Given the description of an element on the screen output the (x, y) to click on. 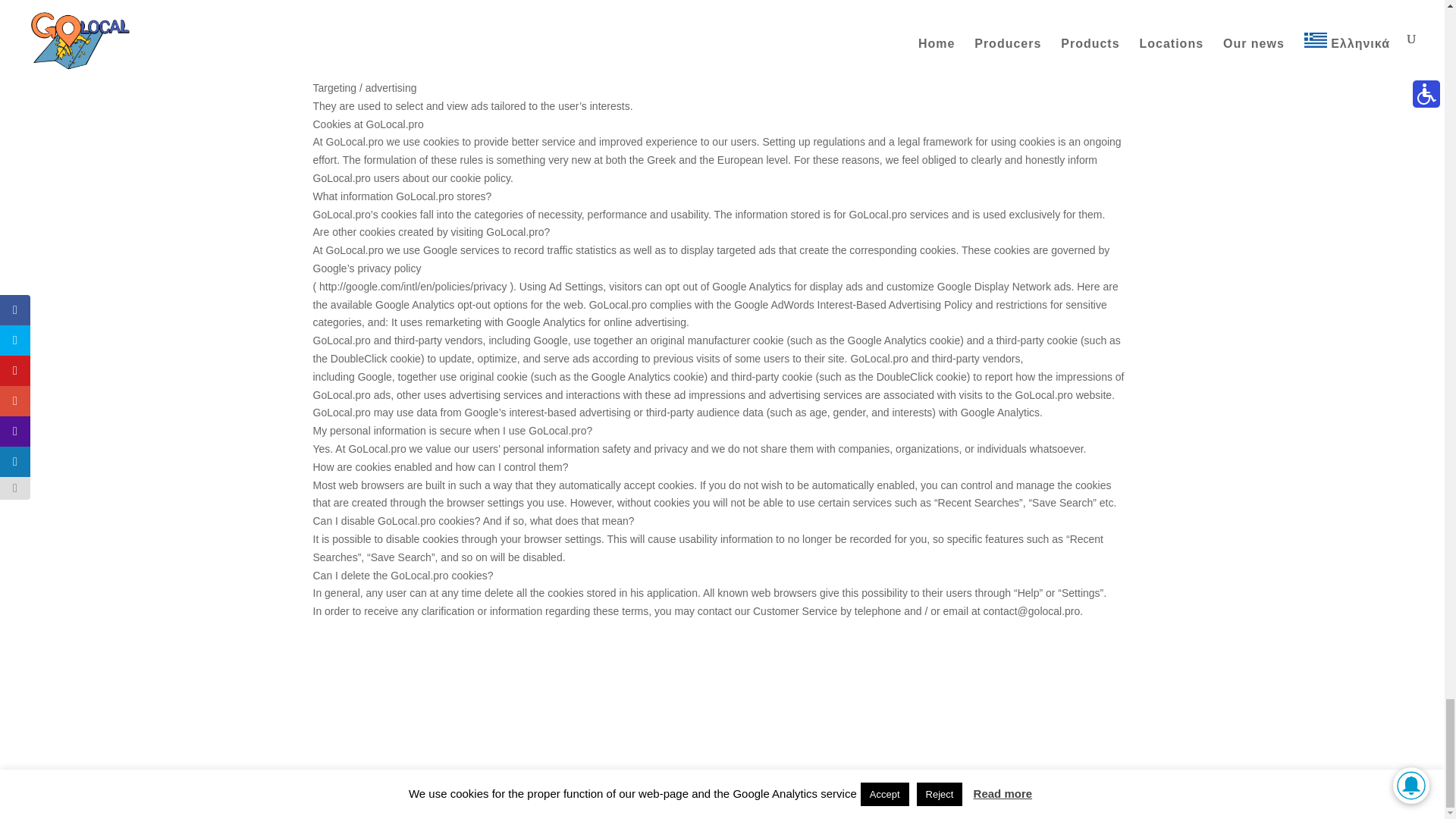
Go Local - Greek Local Products (406, 797)
